Given the description of an element on the screen output the (x, y) to click on. 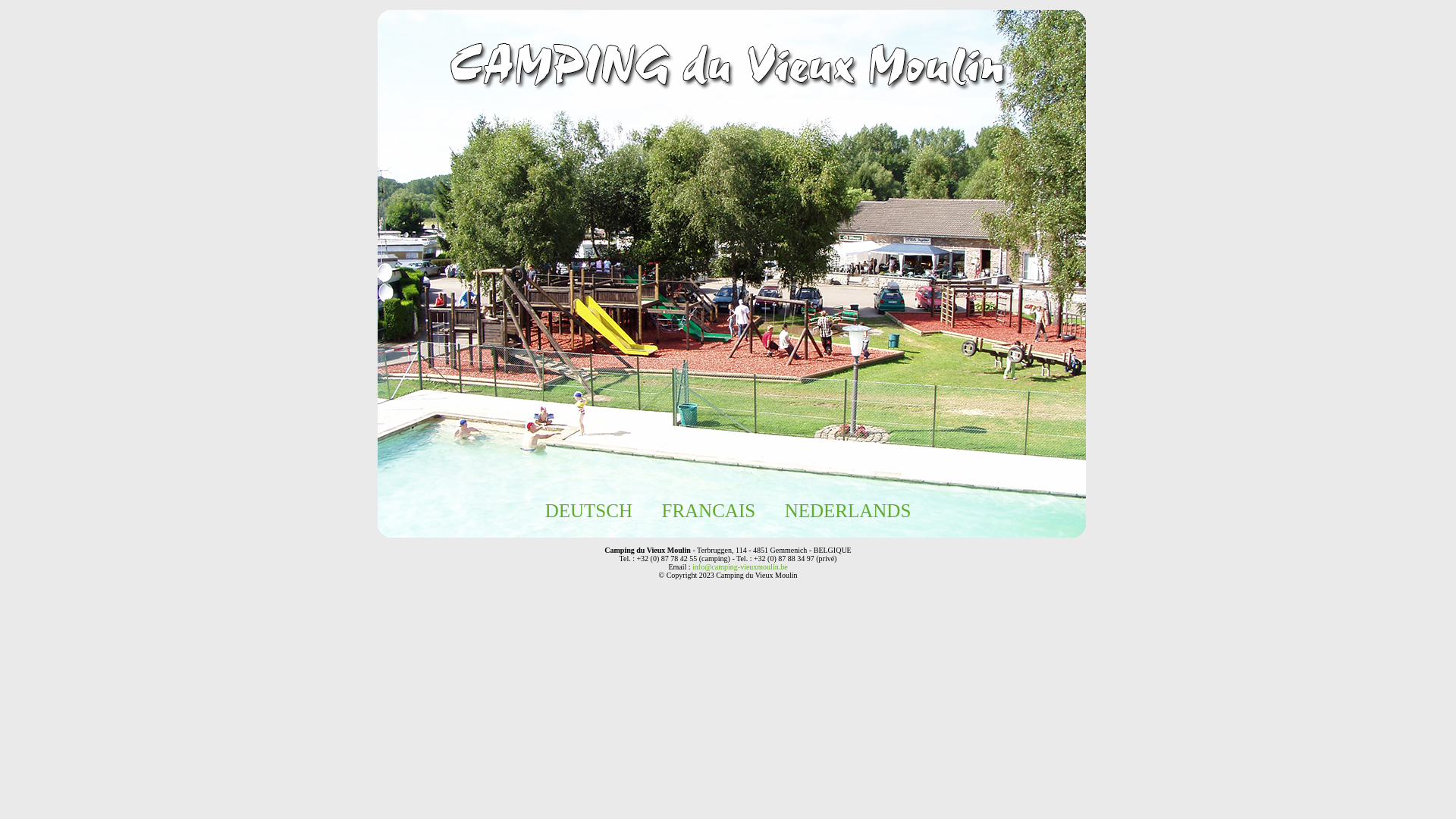
NEDERLANDS Element type: text (847, 510)
FRANCAIS Element type: text (708, 510)
DEUTSCH Element type: text (588, 510)
info@camping-vieuxmoulin.be Element type: text (739, 566)
